Given the description of an element on the screen output the (x, y) to click on. 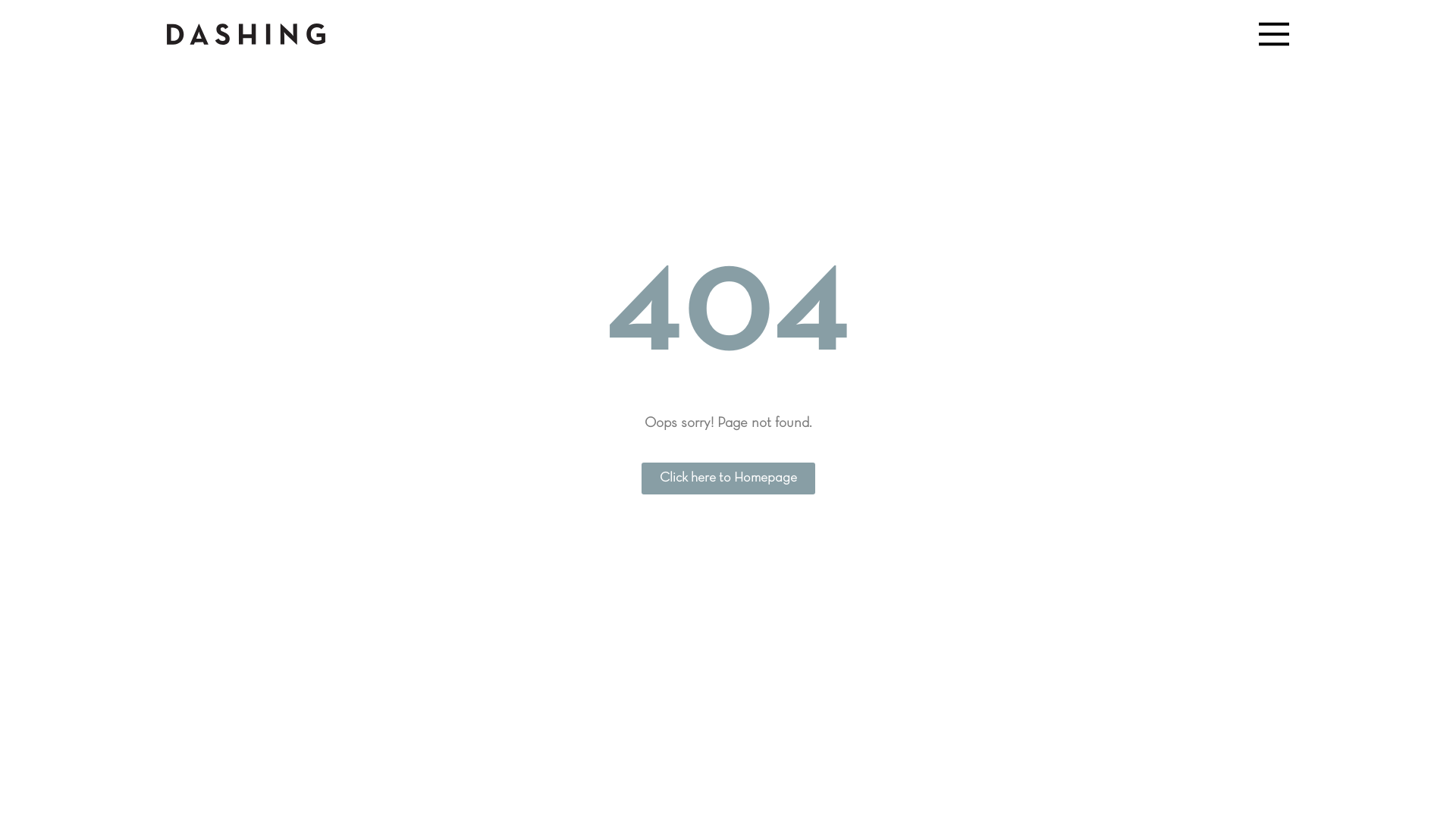
Click here to Homepage Element type: text (728, 478)
